Given the description of an element on the screen output the (x, y) to click on. 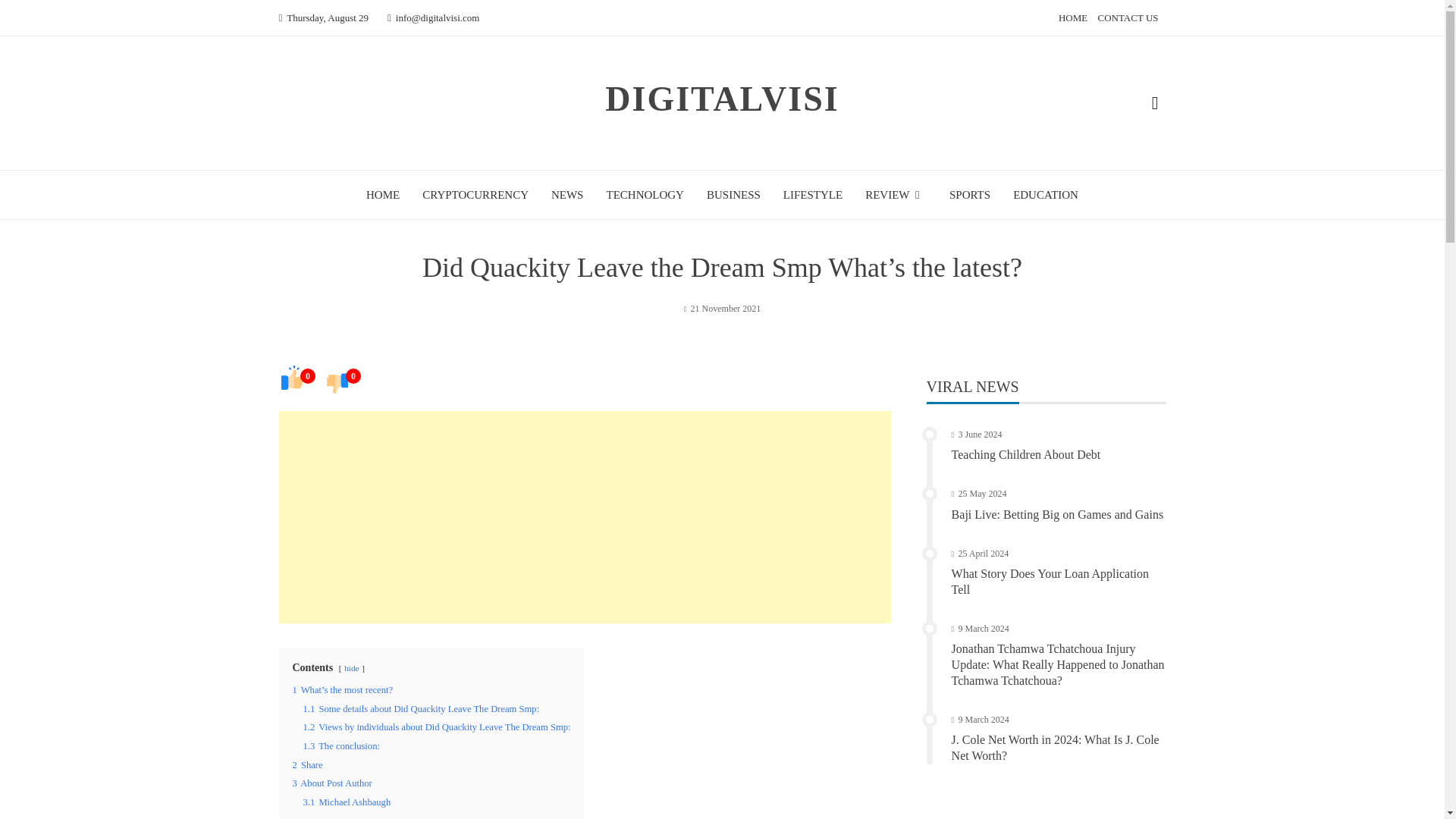
TECHNOLOGY (644, 194)
2 Share (307, 765)
LIFESTYLE (813, 194)
Advertisement (585, 517)
3 About Post Author (332, 783)
DIGITALVISI (721, 98)
SPORTS (969, 194)
1.3 The conclusion: (341, 746)
CRYPTOCURRENCY (475, 194)
